Given the description of an element on the screen output the (x, y) to click on. 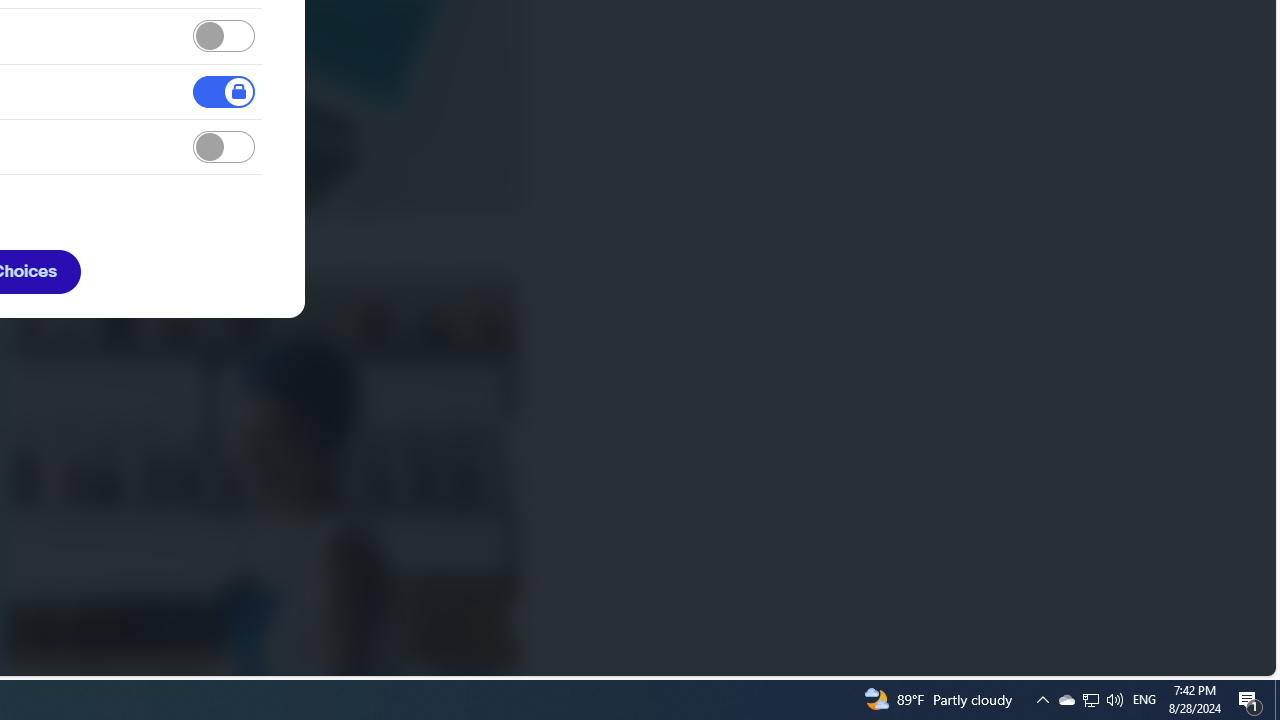
Targeting Cookies (223, 147)
Performance Cookies (223, 36)
